Given the description of an element on the screen output the (x, y) to click on. 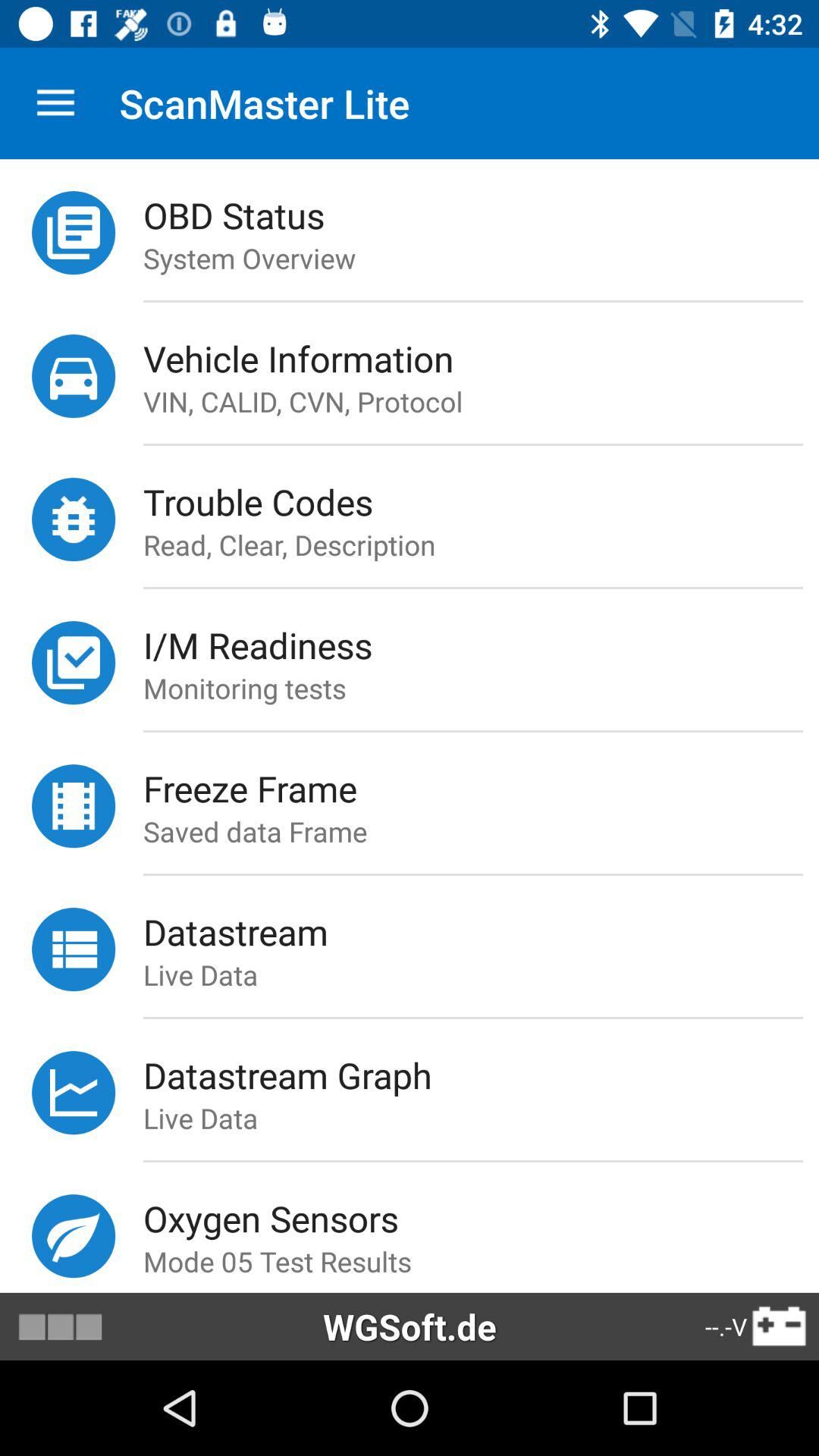
press the icon below the i/m readiness icon (481, 687)
